Given the description of an element on the screen output the (x, y) to click on. 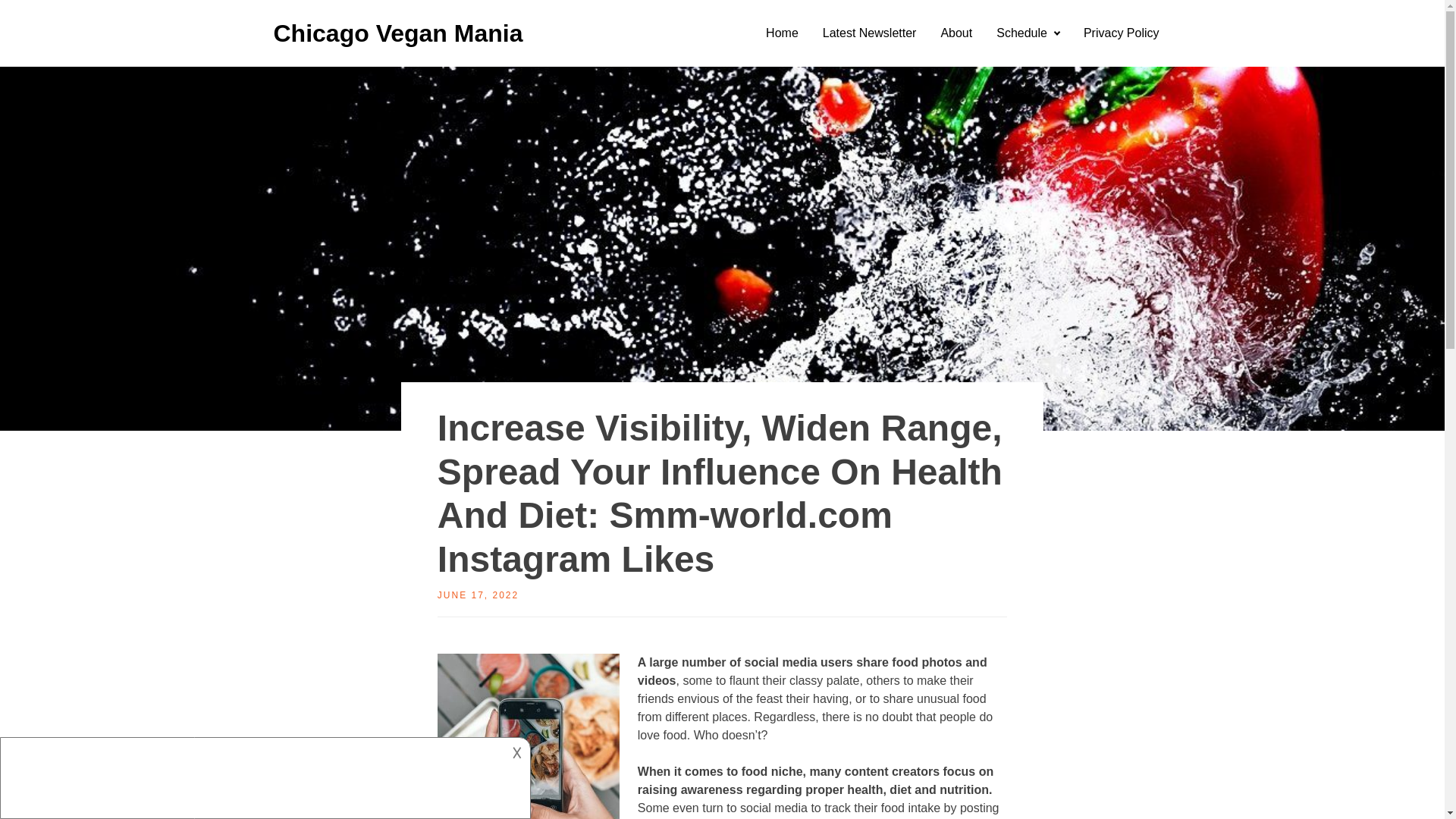
description (252, 775)
Latest Newsletter (869, 33)
Home (782, 33)
Schedule (1027, 33)
Chicago Vegan Mania (397, 32)
About (956, 33)
JUNE 17, 2022 (478, 594)
Privacy Policy (1121, 33)
